Given the description of an element on the screen output the (x, y) to click on. 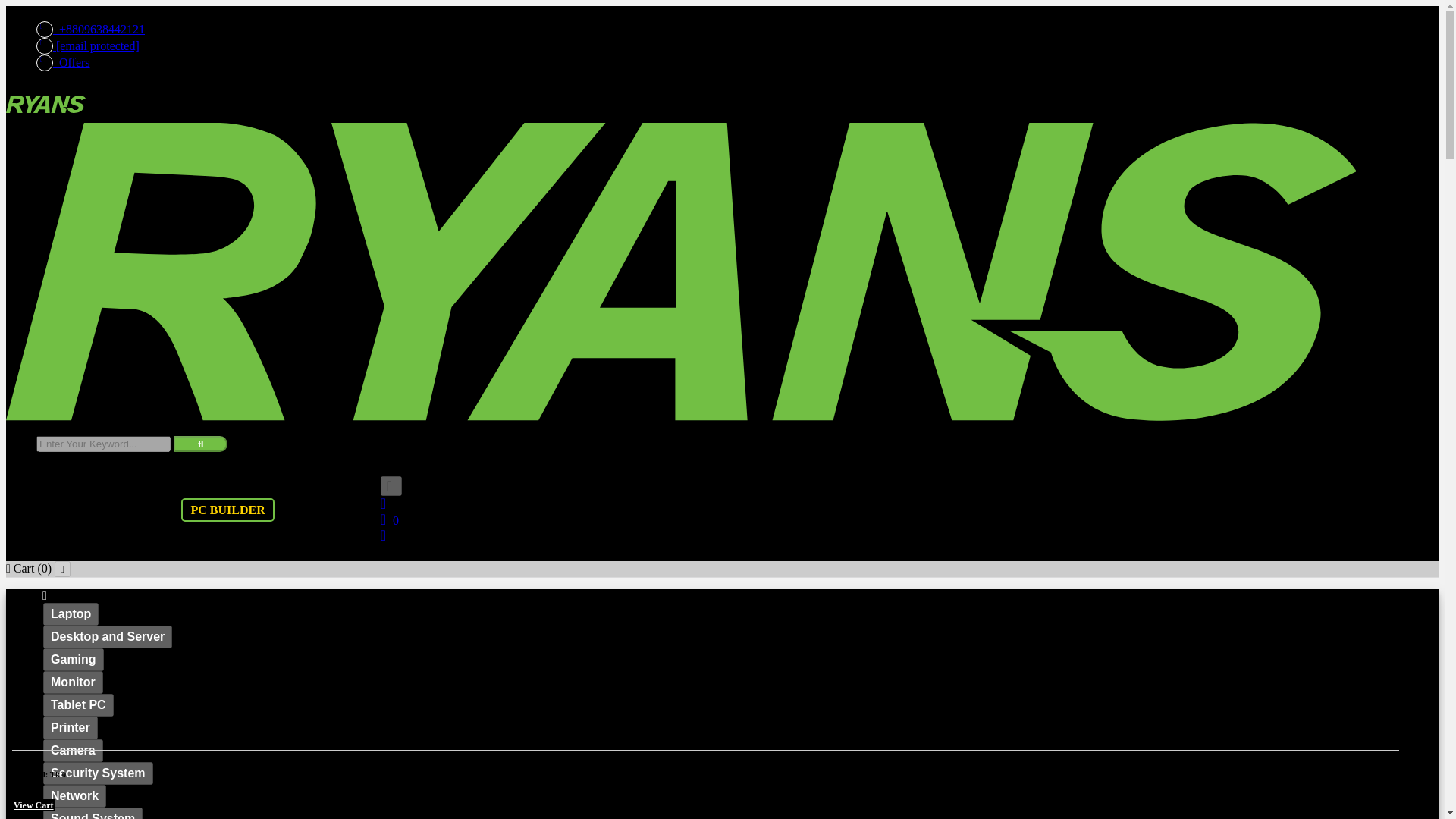
Shopping Cart (395, 485)
0 (389, 520)
Laptop (71, 613)
  Offers (695, 62)
PC BUILDER (226, 509)
View Cart (33, 805)
Compare (395, 519)
Favorite (395, 503)
